Given the description of an element on the screen output the (x, y) to click on. 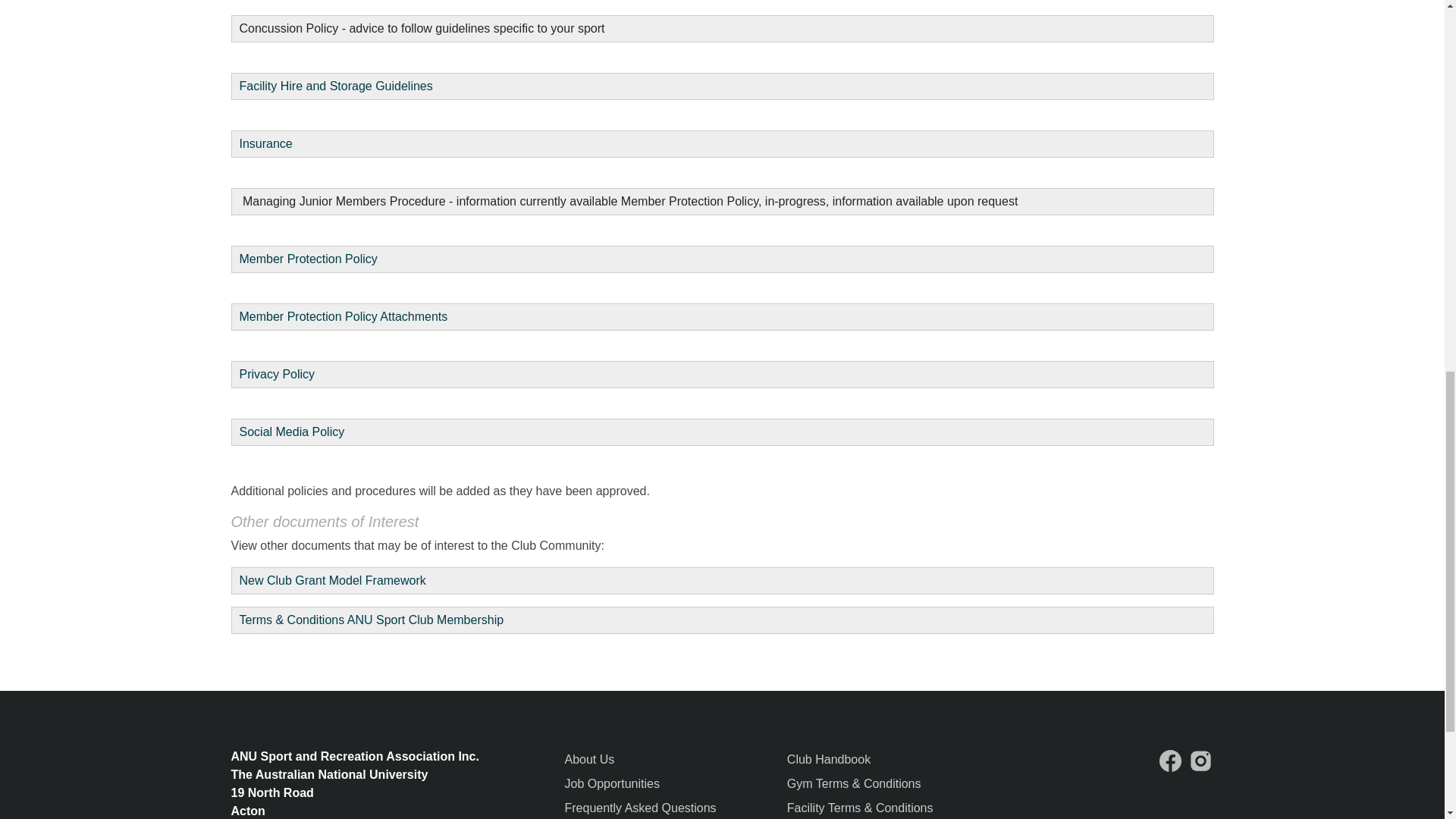
Member Protection Policy (308, 258)
Club Handbook (828, 758)
Social Media Policy (292, 431)
Facility Hire and Storage Guidelines  (338, 85)
View our Facebook site (1170, 760)
View our Instagram site (1201, 760)
Frequently Asked Questions (640, 807)
Insurance (266, 143)
Job Opportunities (611, 783)
New Club Grant Model Framework (333, 580)
